Given the description of an element on the screen output the (x, y) to click on. 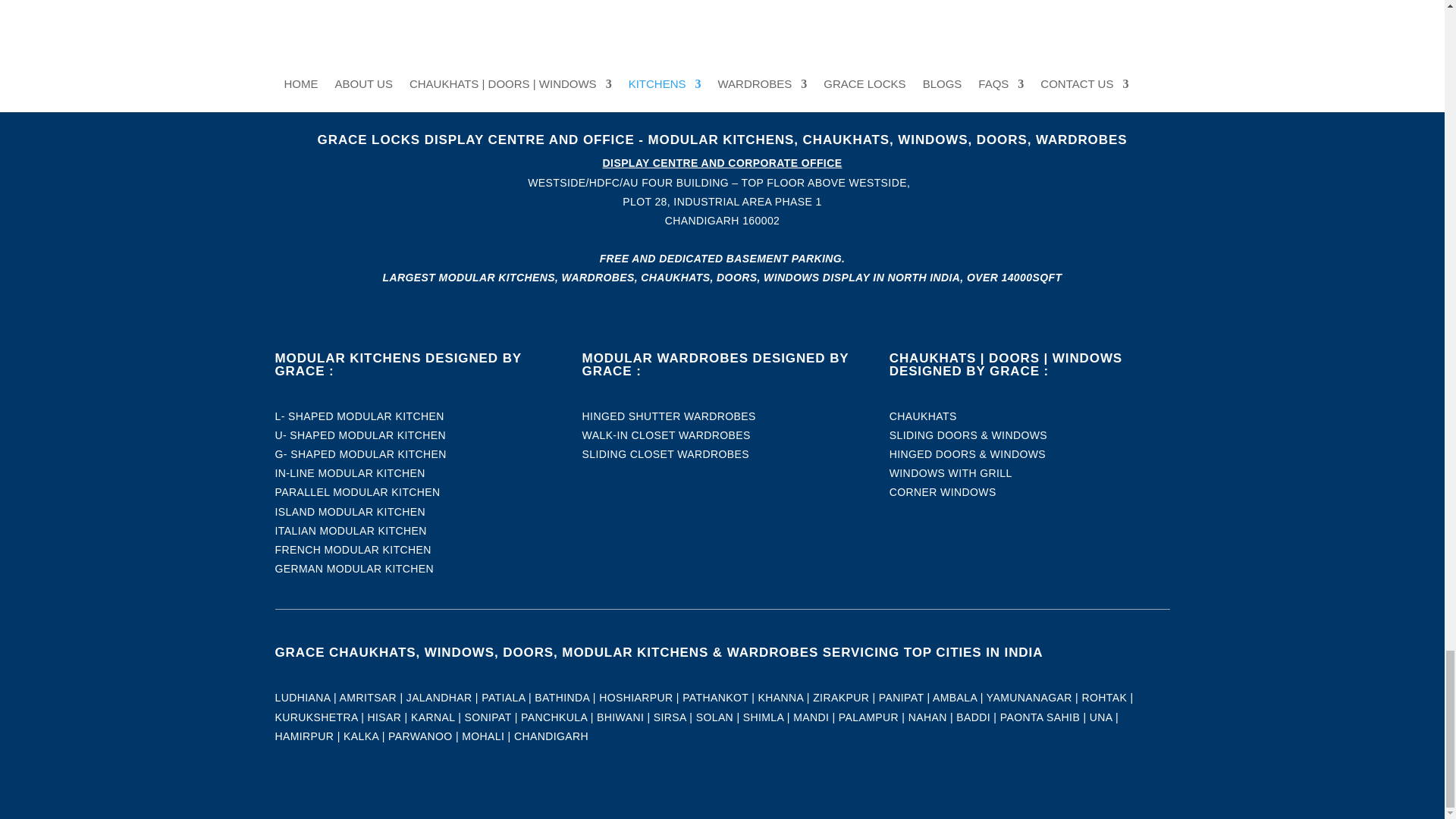
Whatsapp-logo (414, 33)
CONTACT US (722, 40)
FAQS (722, 22)
GRACE LOCKS (722, 6)
